Given the description of an element on the screen output the (x, y) to click on. 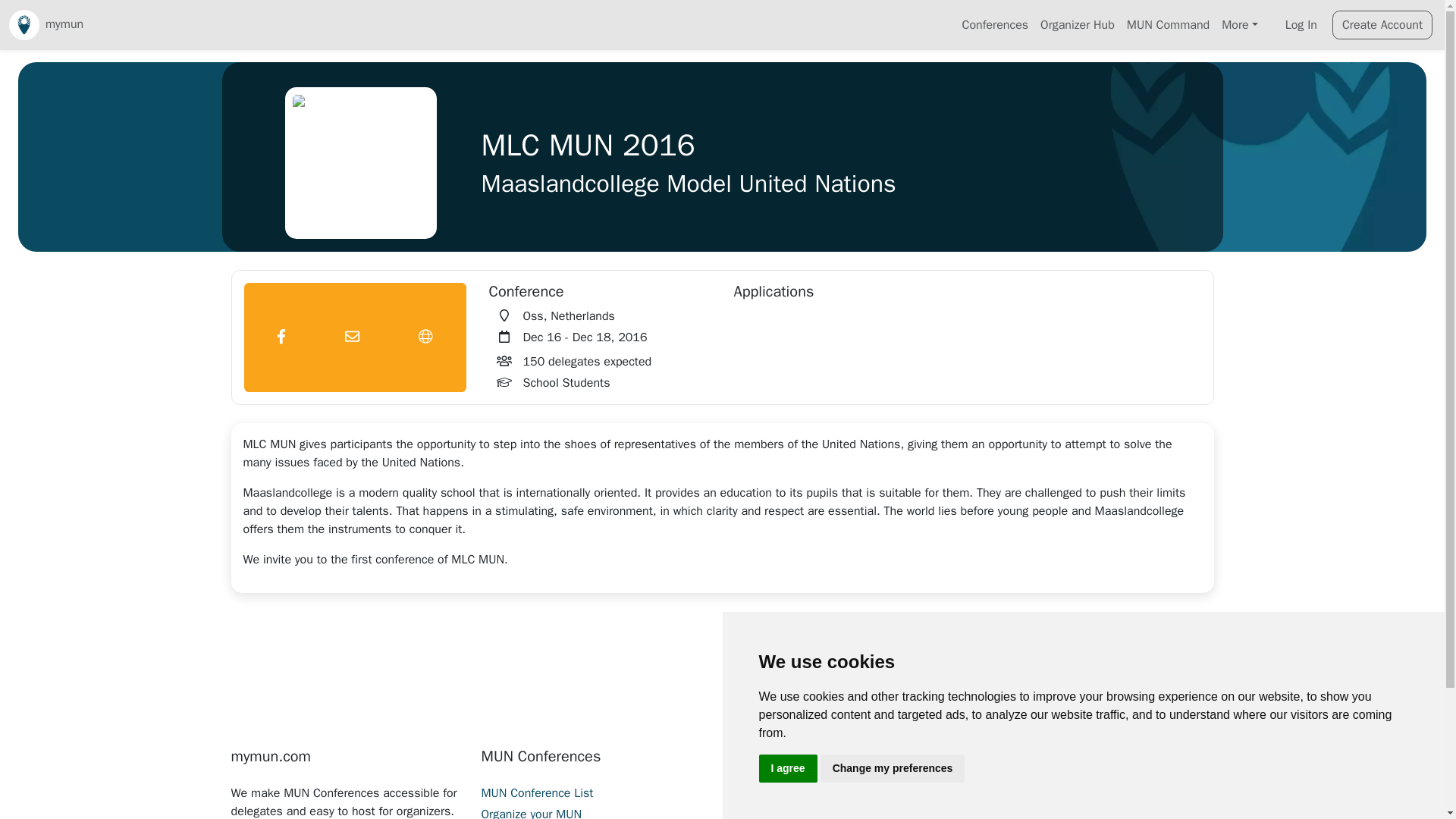
MUN Command (1168, 24)
Create Account (1382, 24)
Organizer Hub (1077, 24)
I agree (787, 768)
Log In (1301, 24)
Conferences (995, 24)
mymun (45, 24)
Change my preferences (893, 768)
